Given the description of an element on the screen output the (x, y) to click on. 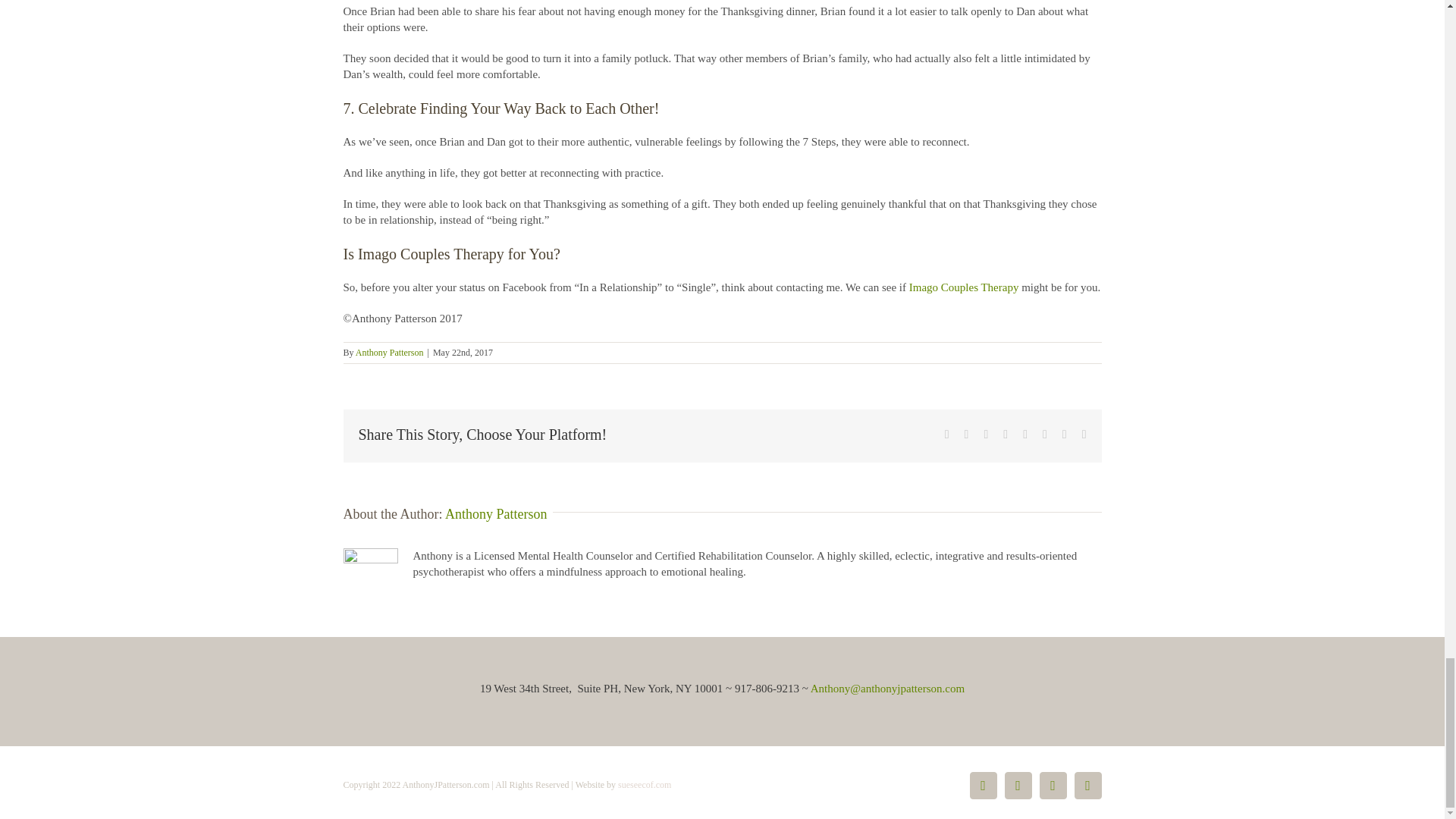
Facebook (982, 785)
sueseecof.com (644, 784)
Anthony Patterson (496, 513)
Instagram (1087, 785)
Facebook (982, 785)
Anthony Patterson (389, 352)
Instagram (1087, 785)
Posts by Anthony Patterson (496, 513)
Posts by Anthony Patterson (389, 352)
Imago Couples Therapy (963, 287)
X (1052, 785)
LinkedIn (1017, 785)
LinkedIn (1017, 785)
X (1052, 785)
